Given the description of an element on the screen output the (x, y) to click on. 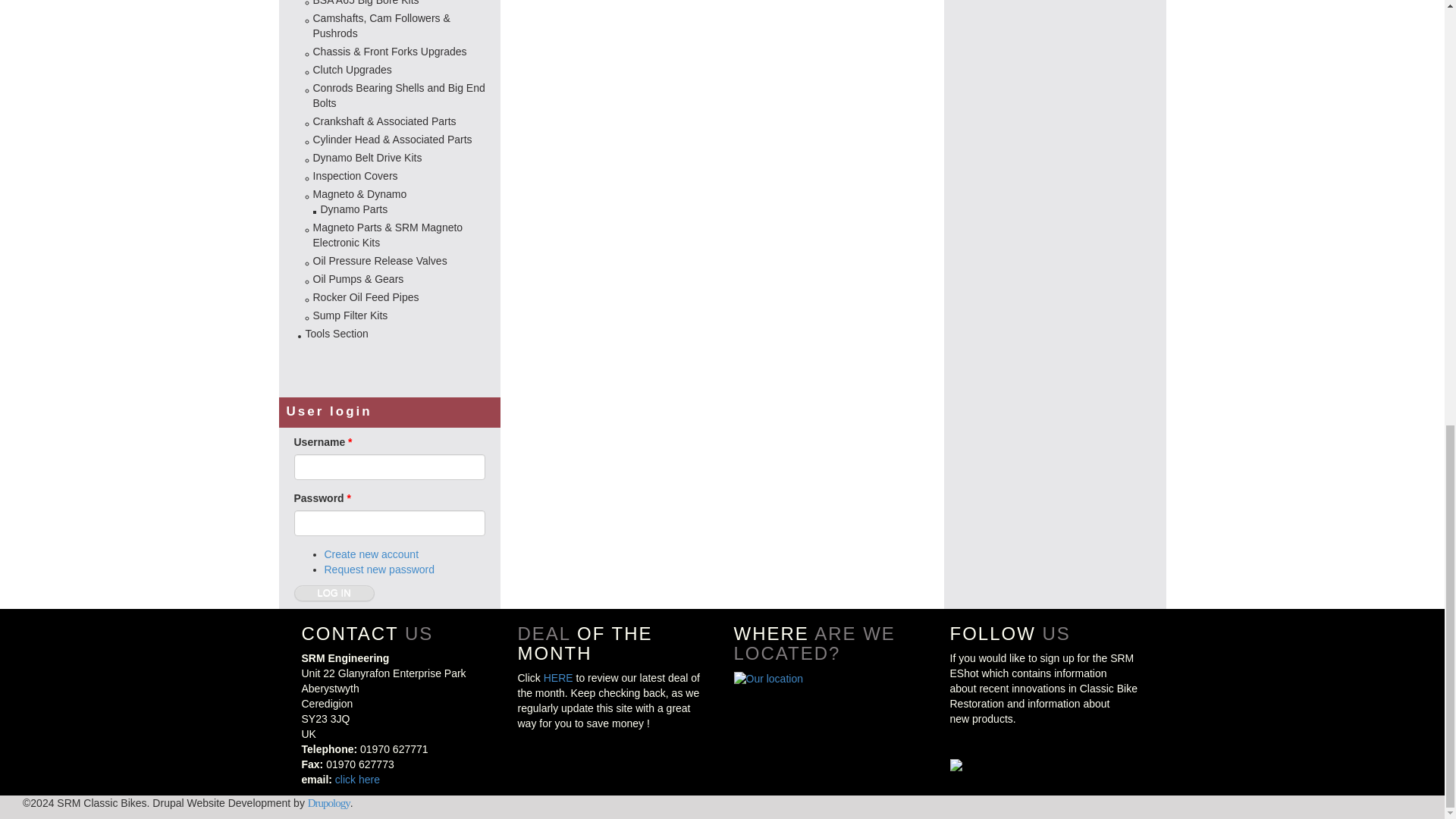
Clutch Upgrades (352, 69)
Drupal Website Design and Drupal Development Services (328, 802)
BSA A65 Big Bore Kits (366, 2)
Request new password via e-mail. (379, 569)
Create a new user account. (371, 553)
